Given the description of an element on the screen output the (x, y) to click on. 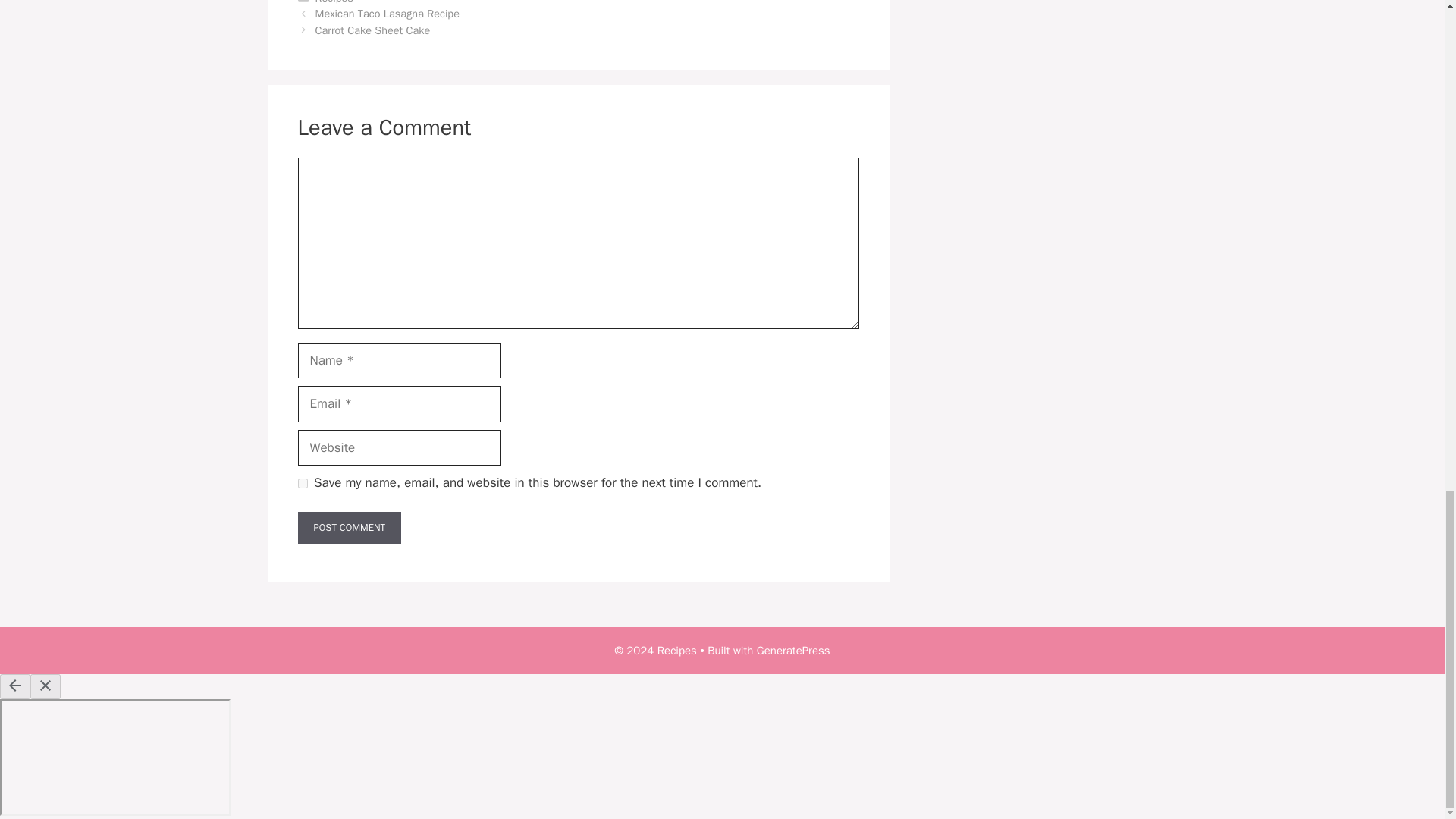
Carrot Cake Sheet Cake (372, 29)
Mexican Taco Lasagna Recipe (387, 13)
GeneratePress (793, 650)
Post Comment (349, 527)
yes (302, 483)
Post Comment (349, 527)
Recipes (334, 2)
